Given the description of an element on the screen output the (x, y) to click on. 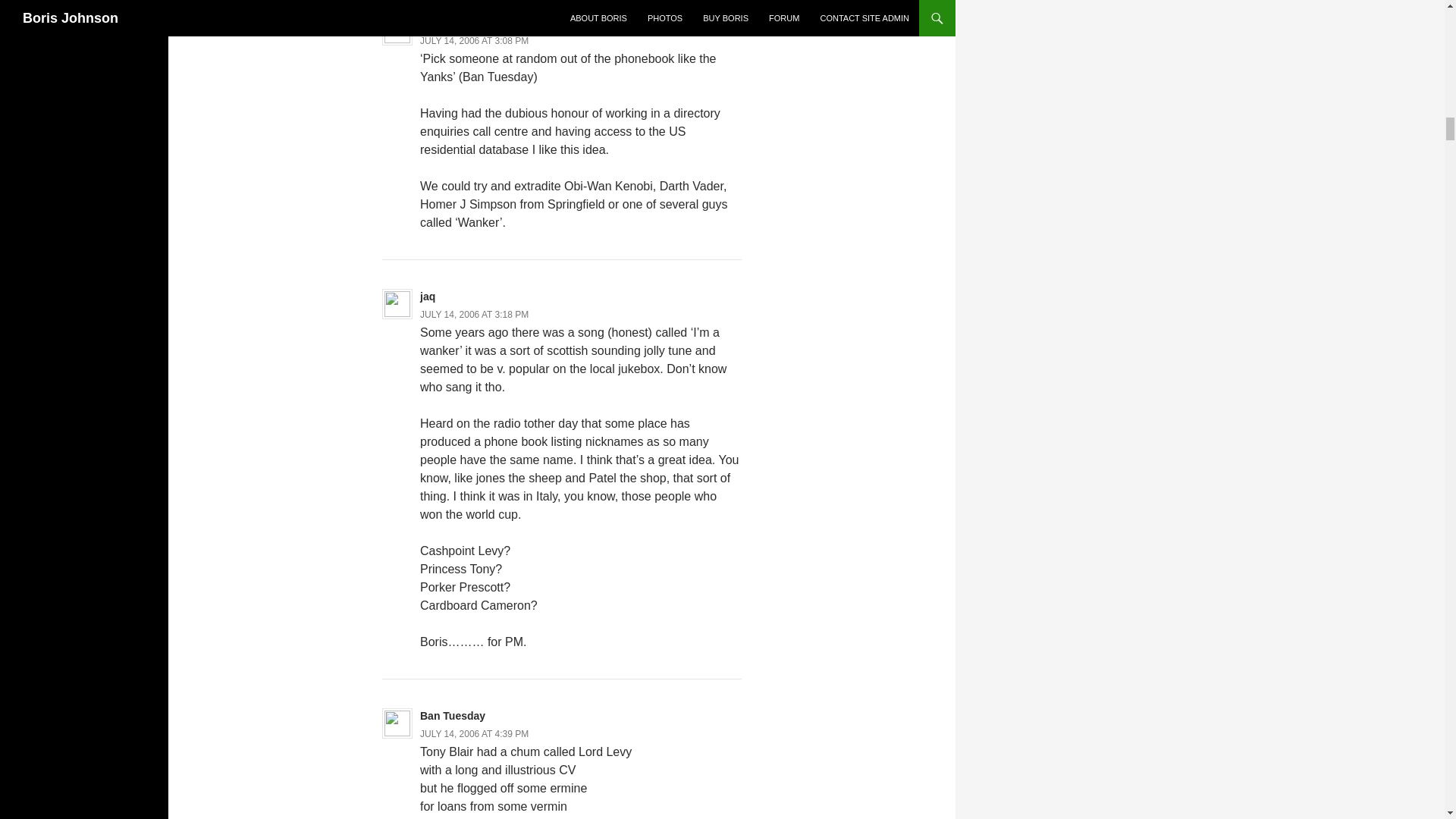
JULY 14, 2006 AT 4:39 PM (474, 733)
JULY 14, 2006 AT 3:08 PM (474, 40)
JULY 14, 2006 AT 3:18 PM (474, 314)
